Given the description of an element on the screen output the (x, y) to click on. 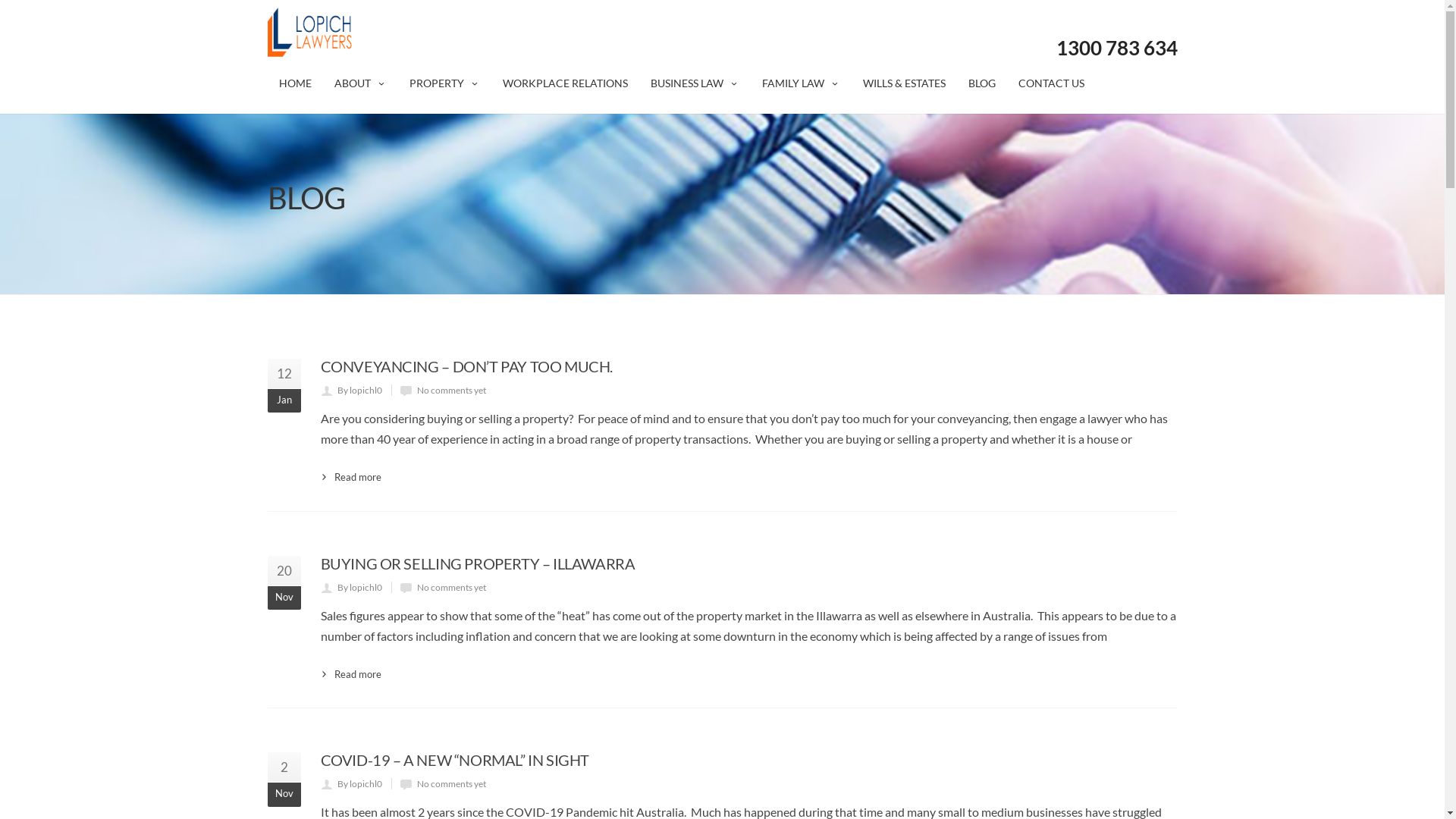
Read more Element type: text (350, 477)
FAMILY LAW Element type: text (800, 81)
ABOUT Element type: text (360, 81)
BUSINESS LAW Element type: text (693, 81)
By lopichl0 Element type: text (358, 783)
Read more Element type: text (350, 674)
By lopichl0 Element type: text (358, 389)
No comments yet Element type: text (451, 783)
BLOG Element type: text (982, 81)
By lopichl0 Element type: text (358, 587)
CONTACT US Element type: text (1051, 81)
No comments yet Element type: text (451, 389)
WILLS & ESTATES Element type: text (903, 81)
HOME Element type: text (294, 81)
1300 783 634 Element type: text (1115, 47)
WORKPLACE RELATIONS Element type: text (565, 81)
No comments yet Element type: text (451, 587)
PROPERTY Element type: text (443, 81)
